Given the description of an element on the screen output the (x, y) to click on. 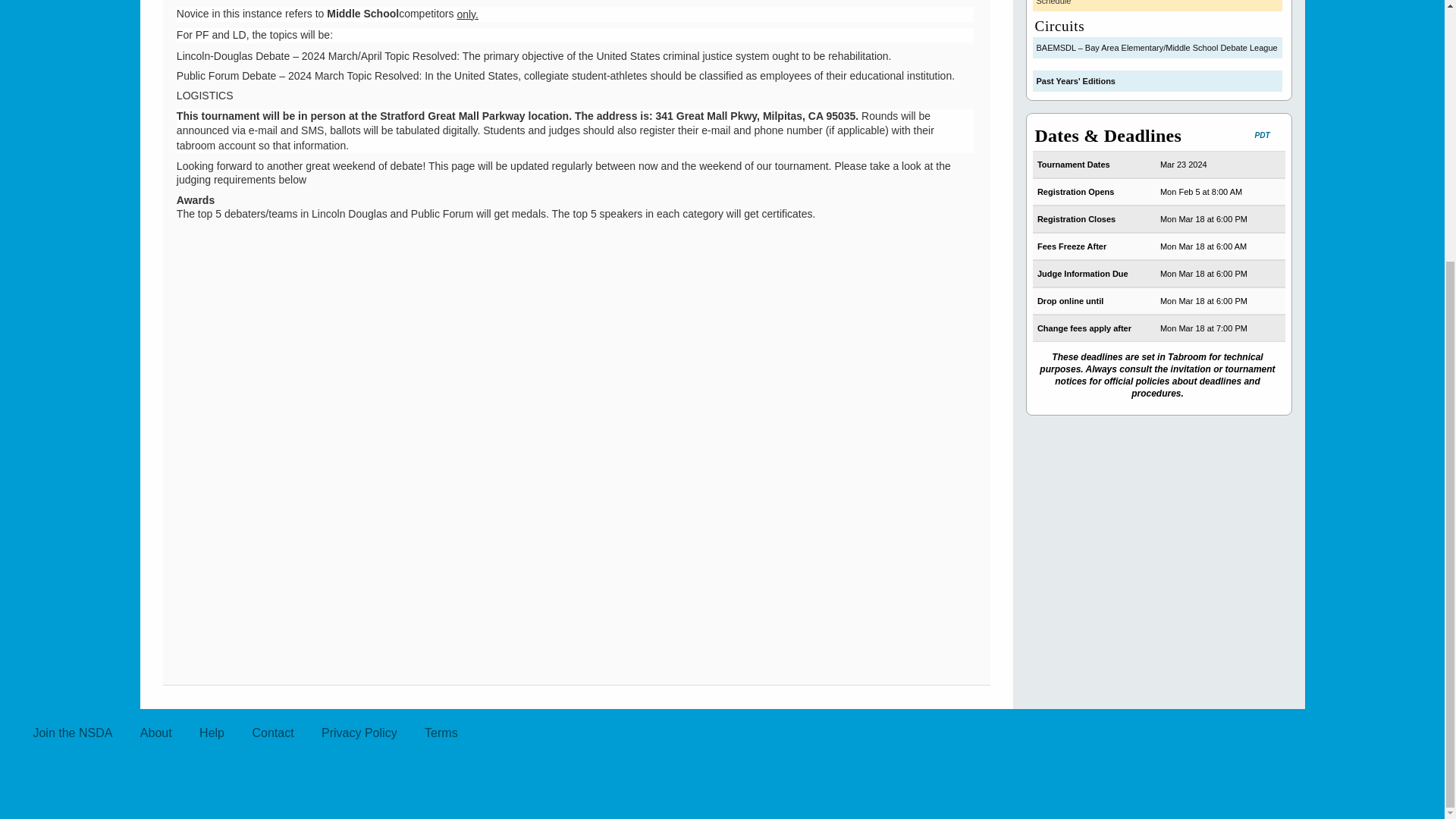
Contact (272, 732)
Help (211, 732)
Join the NSDA (71, 732)
Schedule (1157, 5)
Past Years' Editions (1157, 80)
About (156, 732)
Privacy Policy (358, 732)
Terms (441, 732)
